Given the description of an element on the screen output the (x, y) to click on. 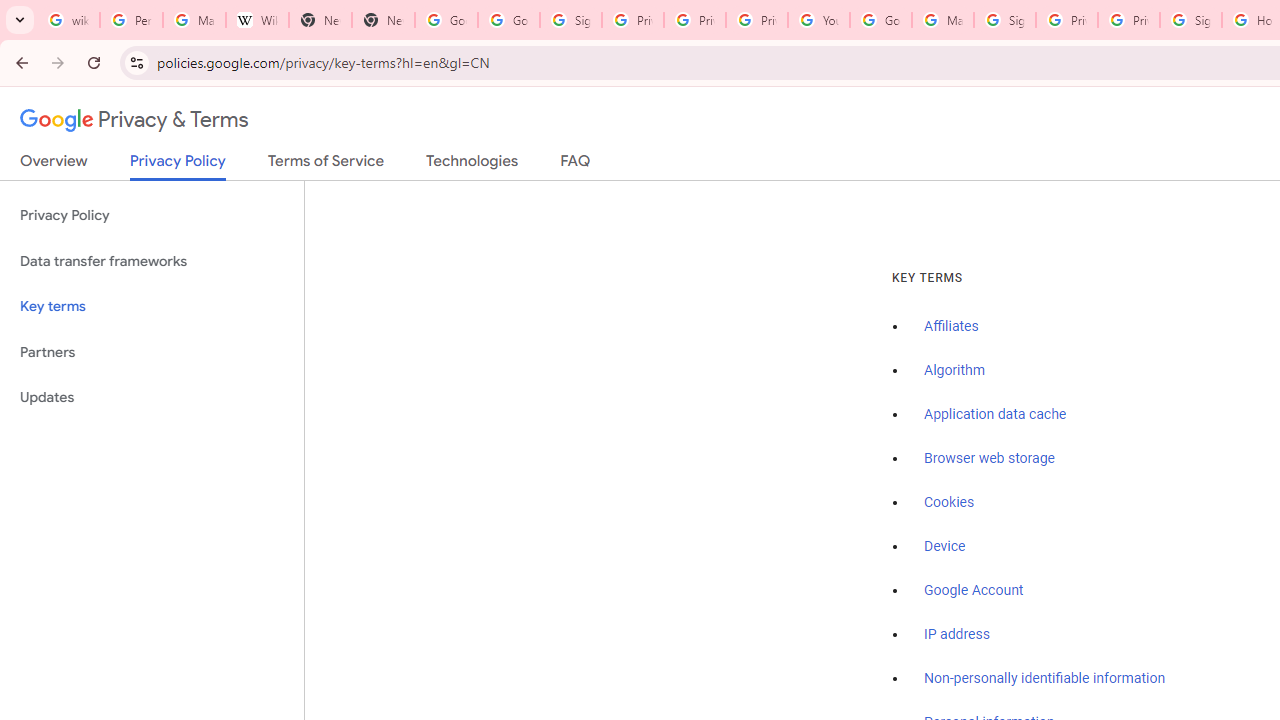
Partners (152, 352)
Data transfer frameworks (152, 261)
Sign in - Google Accounts (1004, 20)
Browser web storage (989, 459)
Affiliates (951, 327)
Google Account Help (880, 20)
Cookies (949, 502)
New Tab (320, 20)
Manage your Location History - Google Search Help (194, 20)
